Given the description of an element on the screen output the (x, y) to click on. 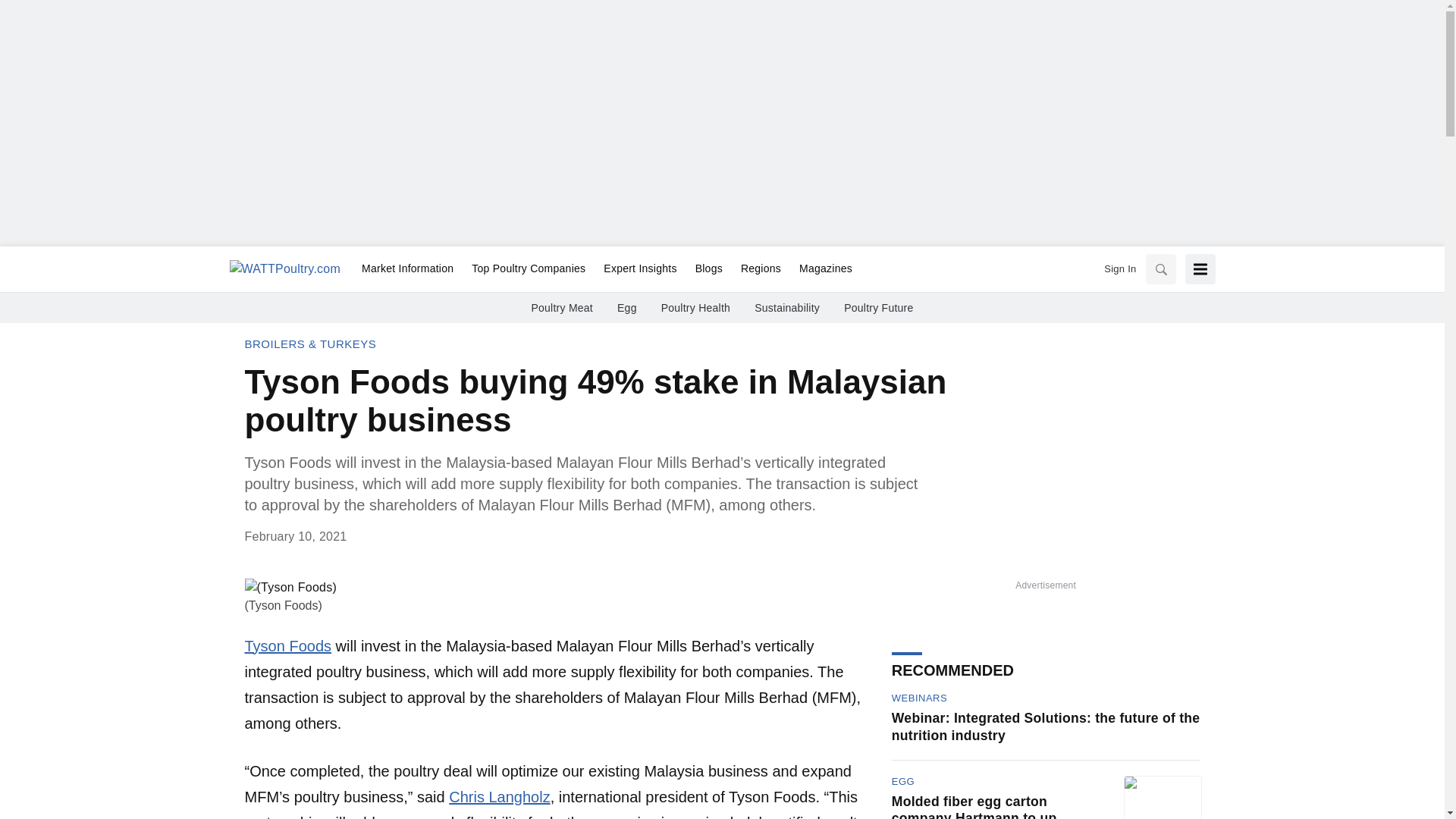
Poultry Future (878, 307)
Sustainability (786, 307)
Market Information (407, 269)
Top Poultry Companies (528, 269)
Webinars (919, 698)
Poultry Health (695, 307)
Egg (627, 307)
Expert Insights (639, 269)
Blogs (708, 269)
Magazines (820, 269)
